Given the description of an element on the screen output the (x, y) to click on. 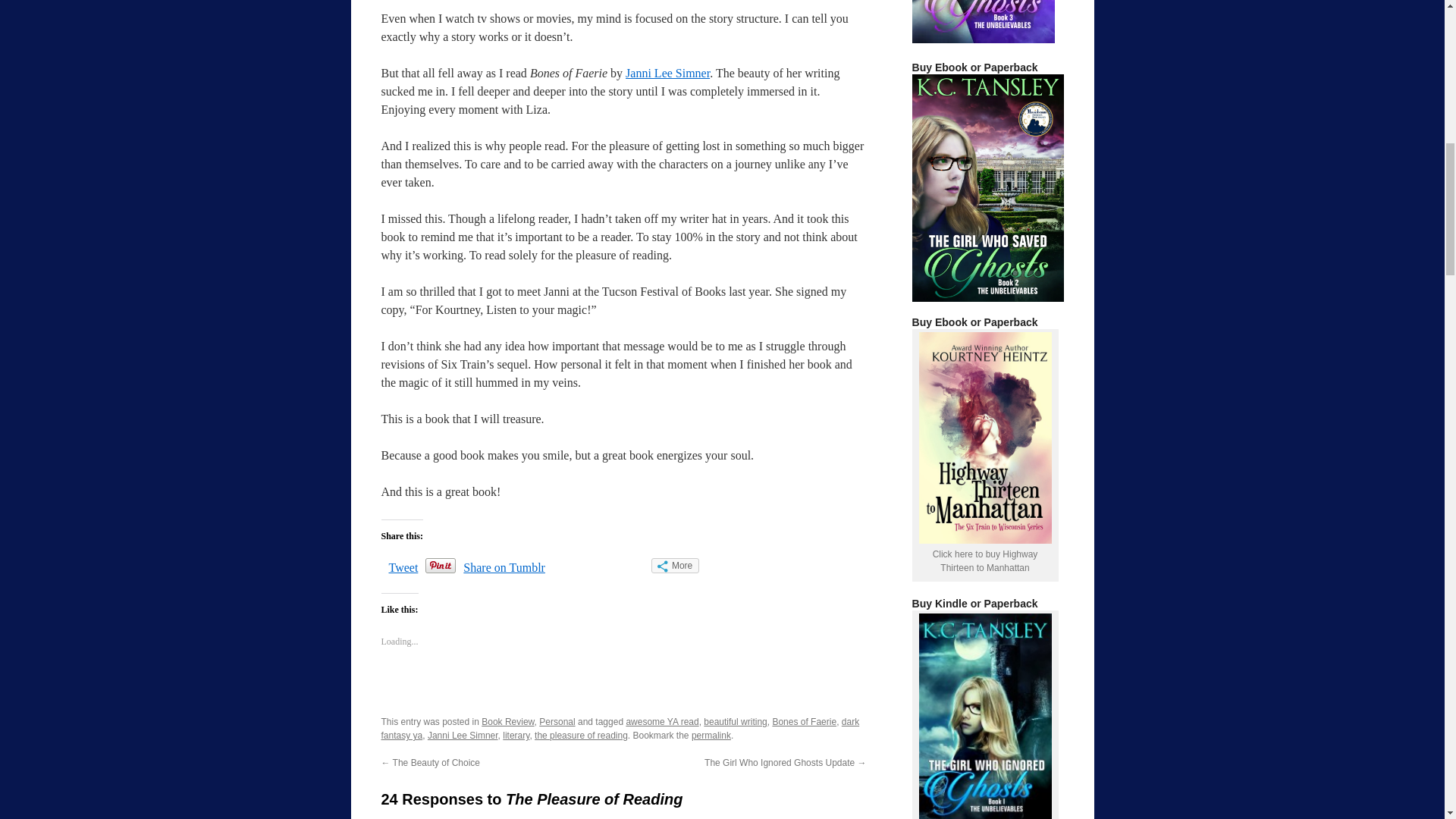
awesome YA read (662, 721)
beautiful writing (735, 721)
Bones of Faerie (803, 721)
Share on Tumblr (503, 567)
Janni Lee Simner (668, 72)
permalink (710, 735)
More (674, 565)
literary (515, 735)
Personal (556, 721)
dark fantasy ya (619, 728)
Book Review (507, 721)
Permalink to The Pleasure of Reading (710, 735)
Like or Reblog (623, 693)
Tweet (402, 567)
Share on Tumblr (503, 567)
